Given the description of an element on the screen output the (x, y) to click on. 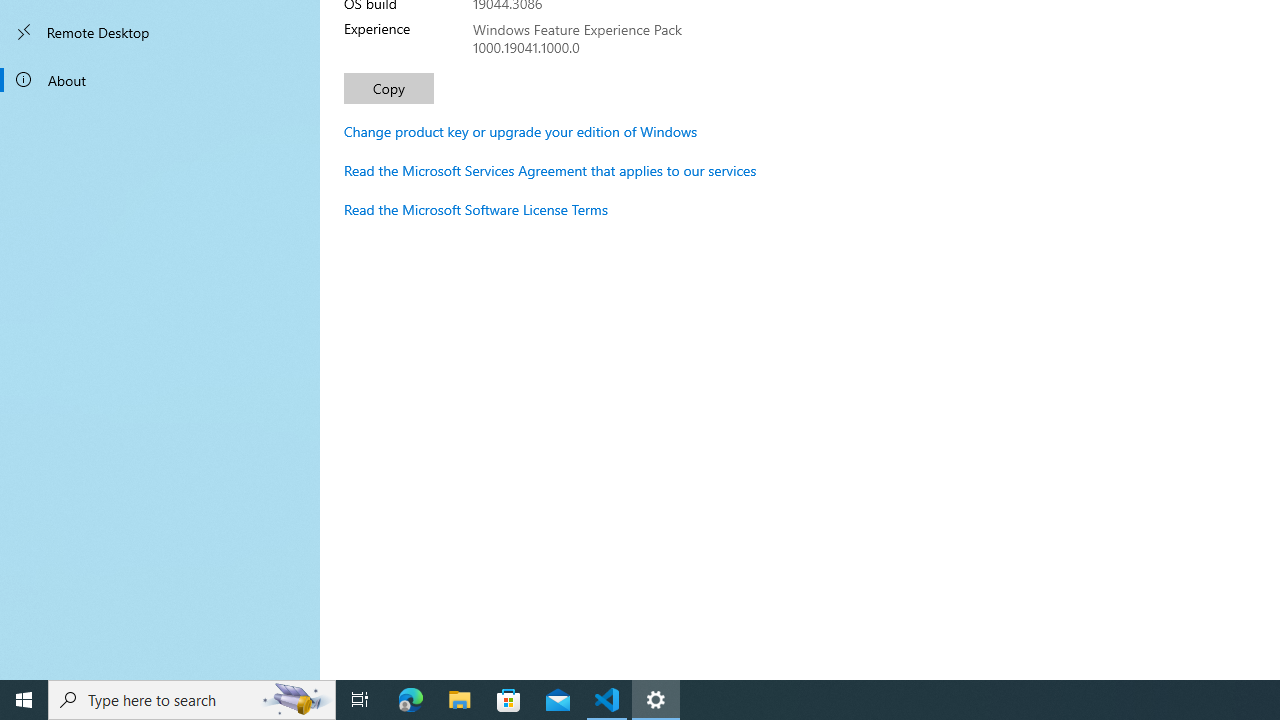
Settings - 1 running window (656, 699)
Read the Microsoft Software License Terms (476, 209)
About (160, 79)
Remote Desktop (160, 31)
Copy (388, 87)
